Given the description of an element on the screen output the (x, y) to click on. 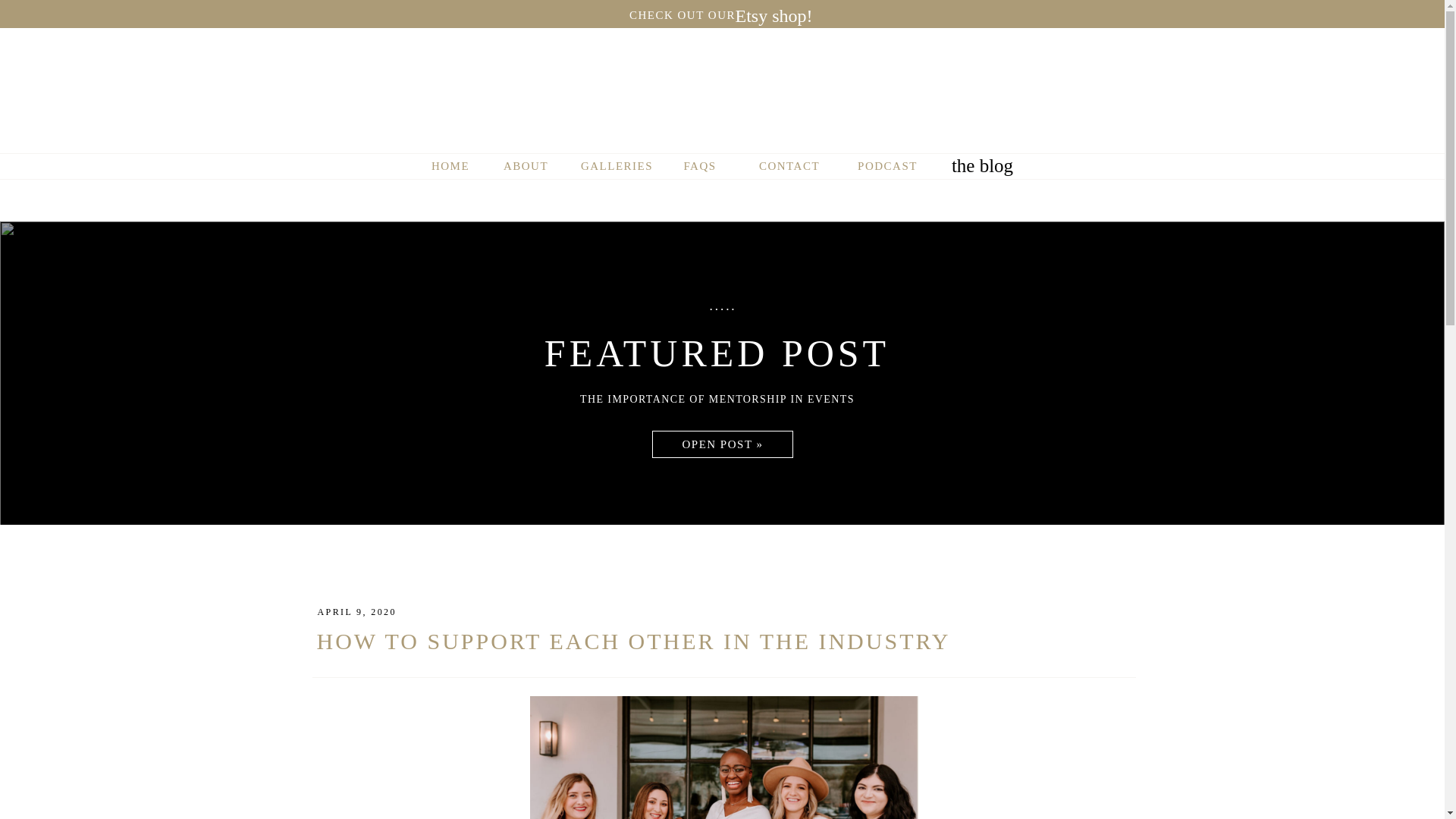
How to Support Each Other in the Industry (722, 443)
THE IMPORTANCE OF MENTORSHIP IN EVENTS (717, 404)
PODCAST (886, 168)
FEATURED POST (716, 353)
FAQS (700, 168)
CONTACT (789, 168)
GALLERIES (617, 168)
ABOUT (525, 168)
HOME (450, 168)
Etsy shop! (774, 13)
